Given the description of an element on the screen output the (x, y) to click on. 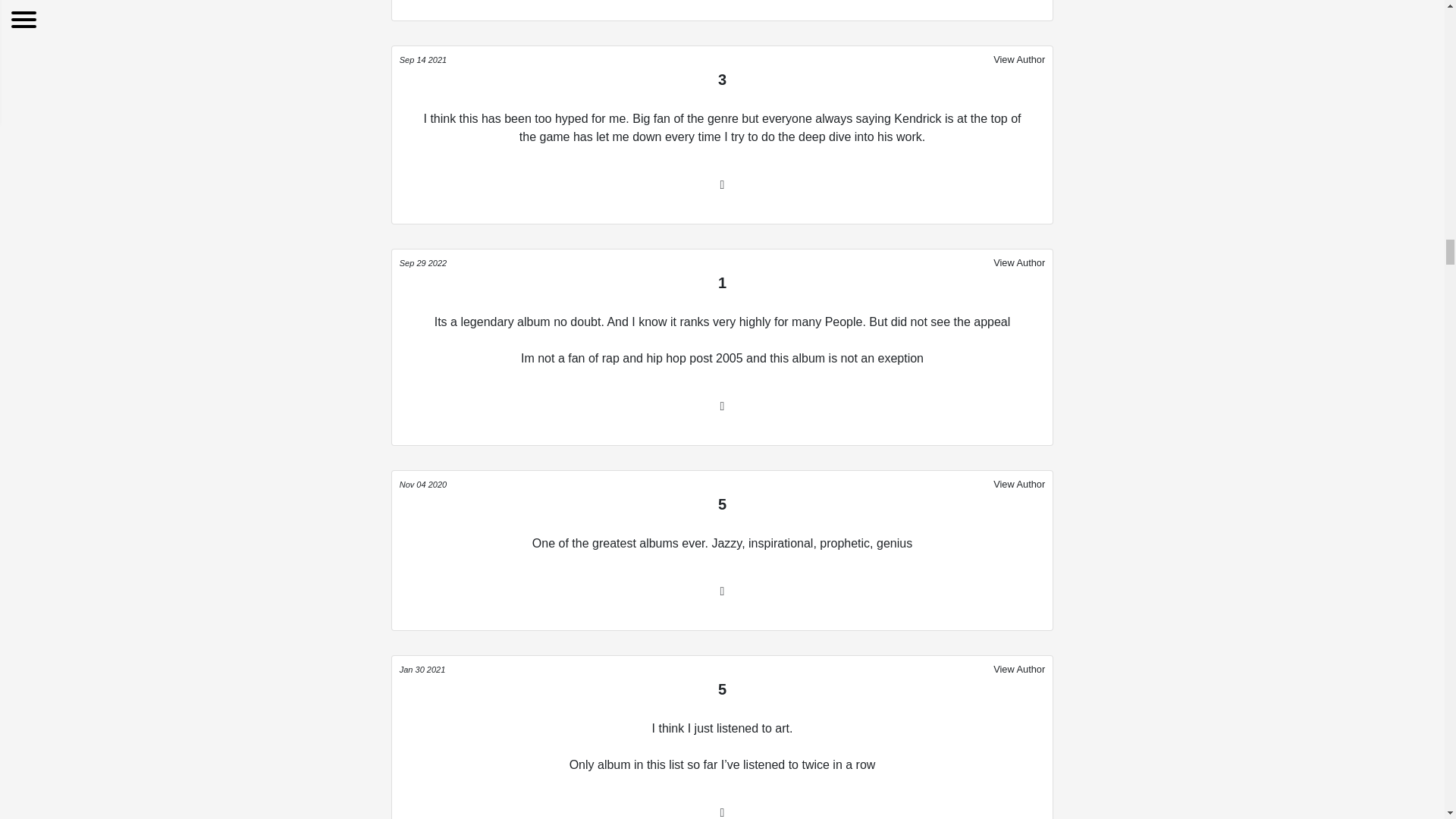
View Author (1018, 58)
View Author (1018, 669)
View Author (1018, 262)
View Author (1018, 484)
